Given the description of an element on the screen output the (x, y) to click on. 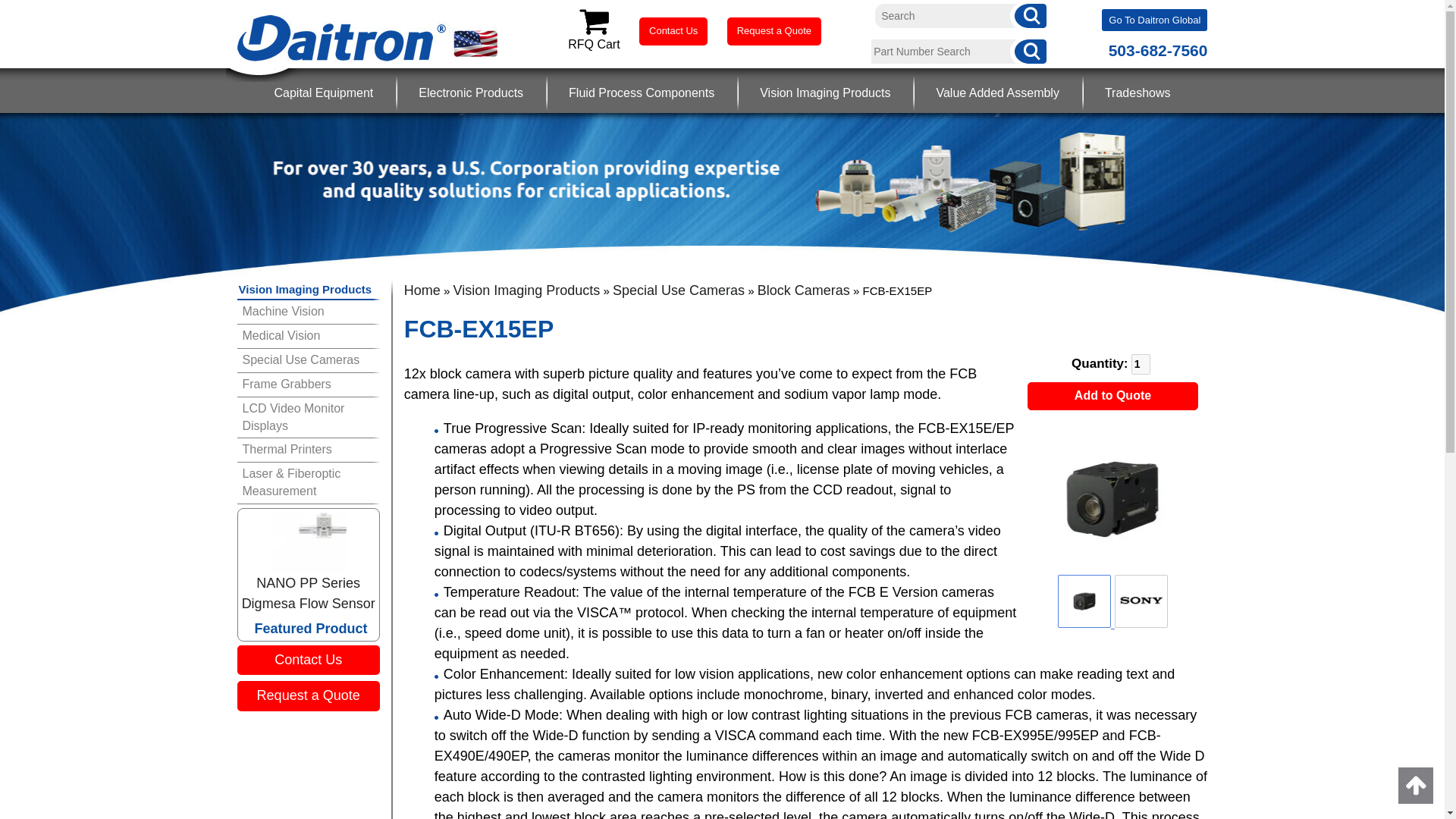
Sonylogo (1141, 601)
Fcbex15ep (1084, 601)
1 (1140, 363)
Fcbex15ep (1112, 499)
